Given the description of an element on the screen output the (x, y) to click on. 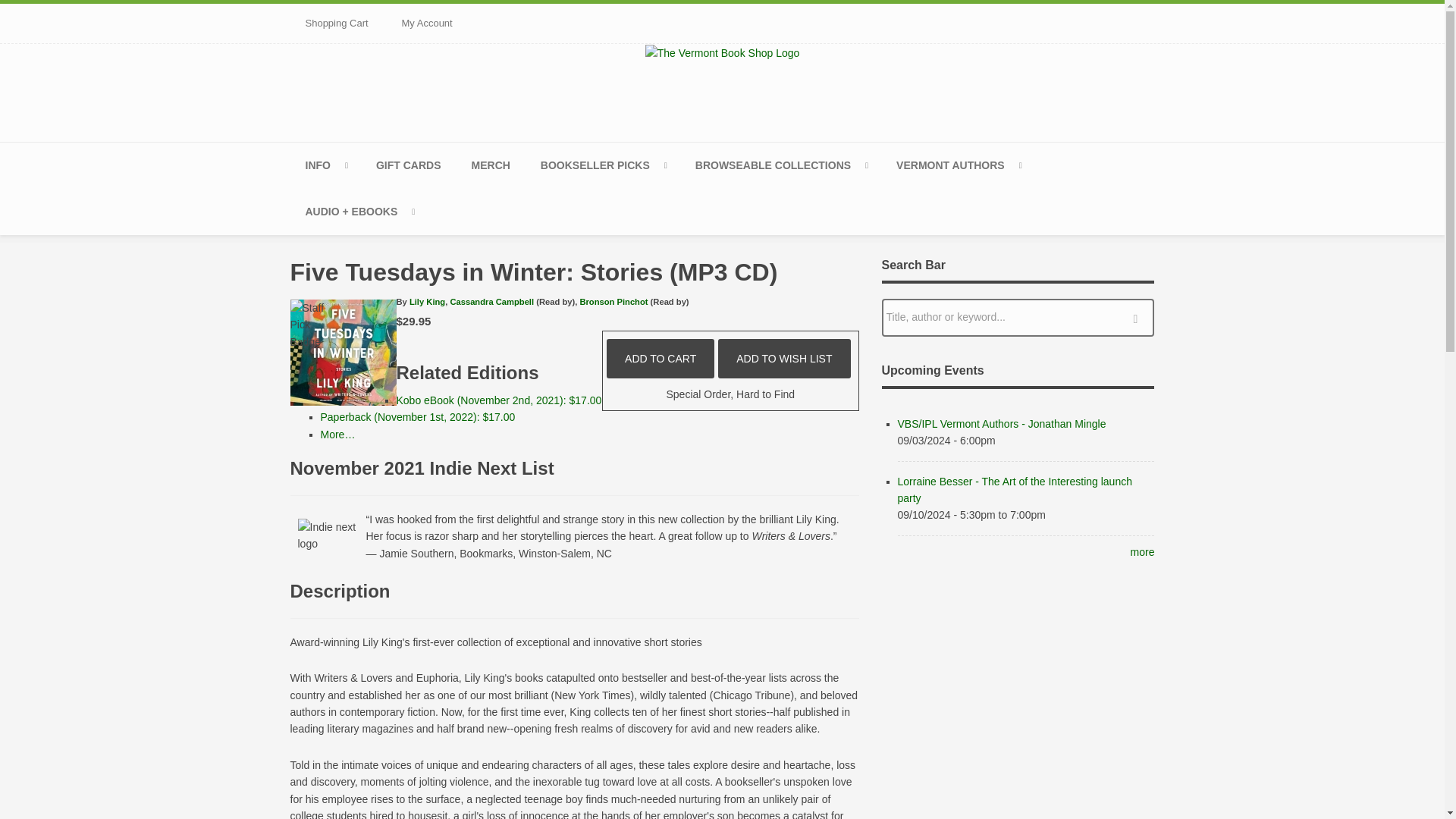
MERCH (491, 165)
Add to Wish List (783, 358)
Add to Cart (660, 358)
My Account (427, 23)
Purchase Gift Cards (409, 165)
BROWSEABLE COLLECTIONS (779, 165)
Tees, Mugs, Totes, etc (491, 165)
GIFT CARDS (409, 165)
Title, author or keyword... (1017, 317)
INFO (324, 165)
